Given the description of an element on the screen output the (x, y) to click on. 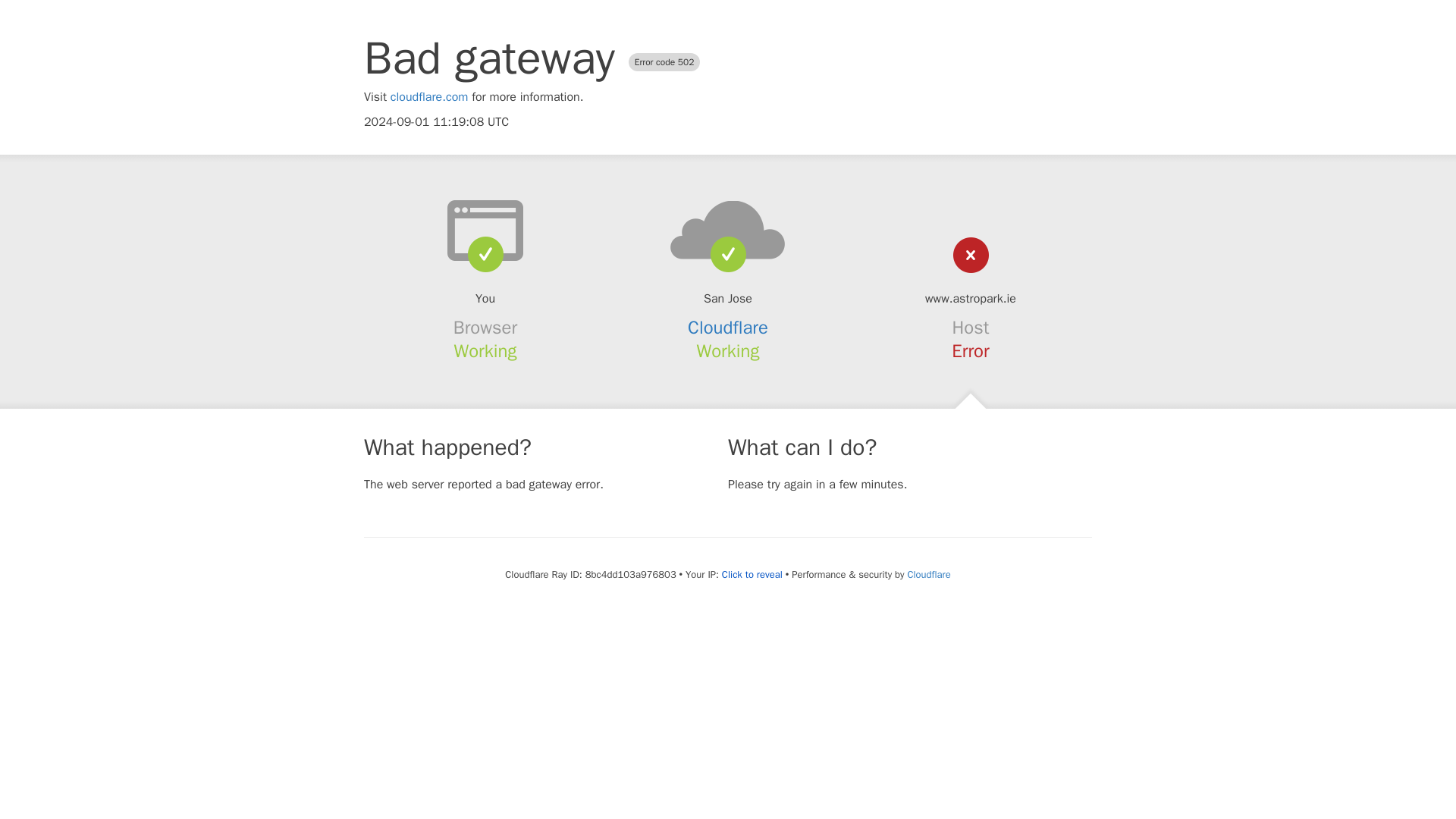
Cloudflare (727, 327)
cloudflare.com (429, 96)
Cloudflare (928, 574)
Click to reveal (752, 574)
